Given the description of an element on the screen output the (x, y) to click on. 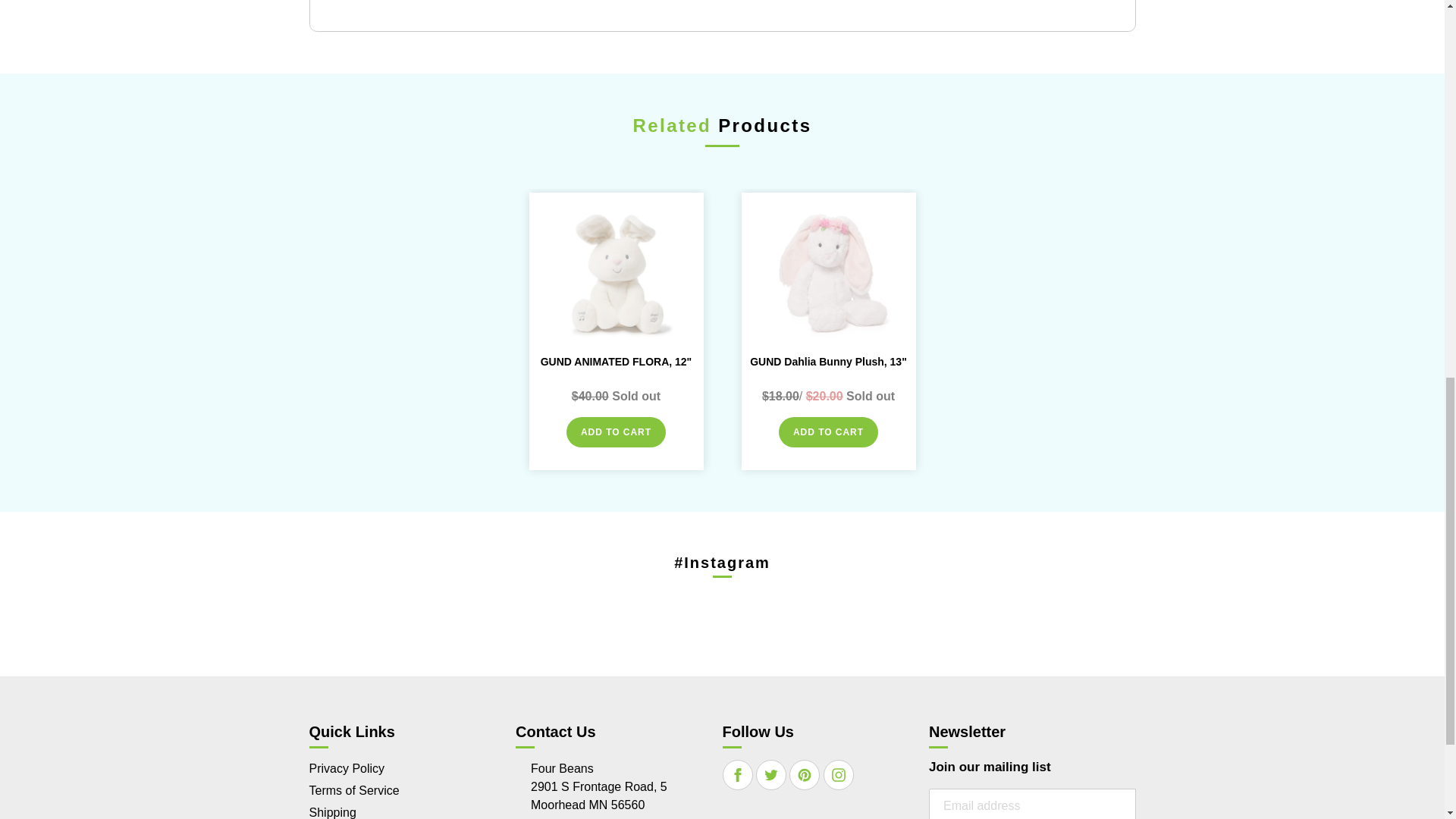
Four Beans on Facebook (737, 774)
Four Beans on Pinterest (804, 774)
Four Beans on Instagram (838, 774)
Four Beans on Twitter (771, 774)
